Given the description of an element on the screen output the (x, y) to click on. 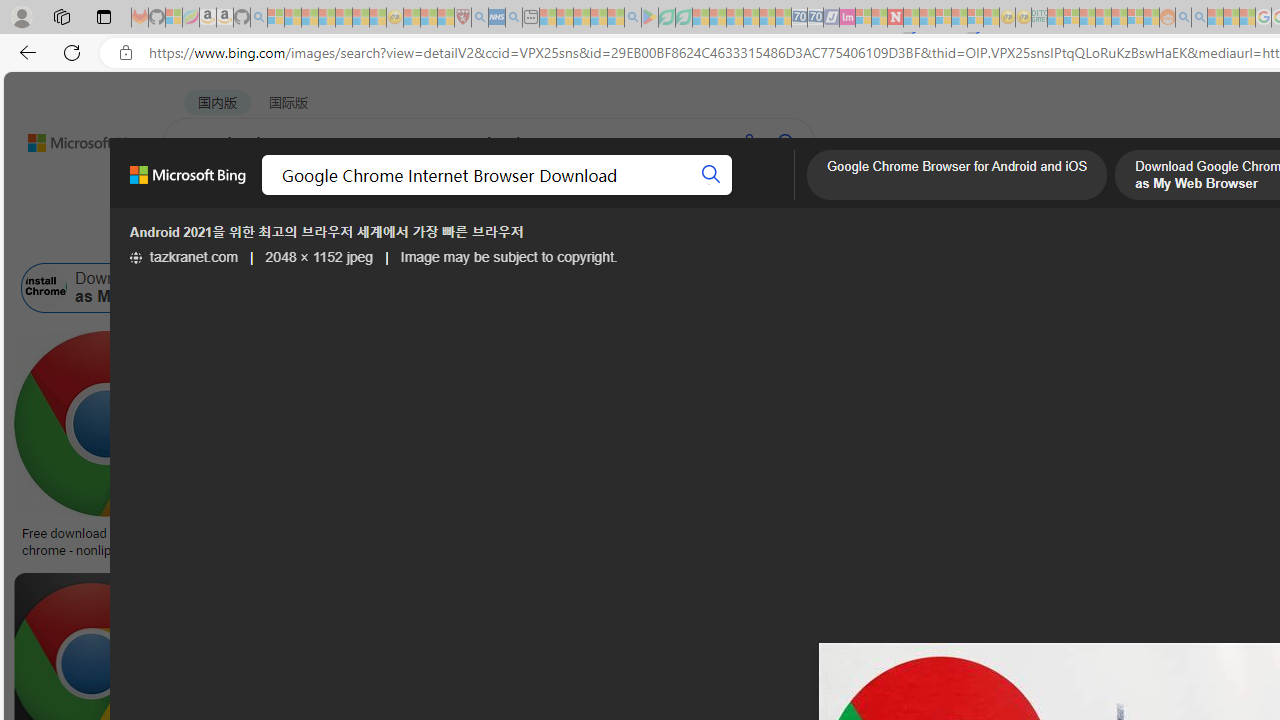
Google Chrome Browser for Android and iOS (957, 177)
Image may be subject to copyright. (508, 257)
Back to Bing search (73, 138)
License (664, 237)
MY BING (276, 195)
Class: b_pri_nav_svg (423, 196)
MORE (793, 195)
